Given the description of an element on the screen output the (x, y) to click on. 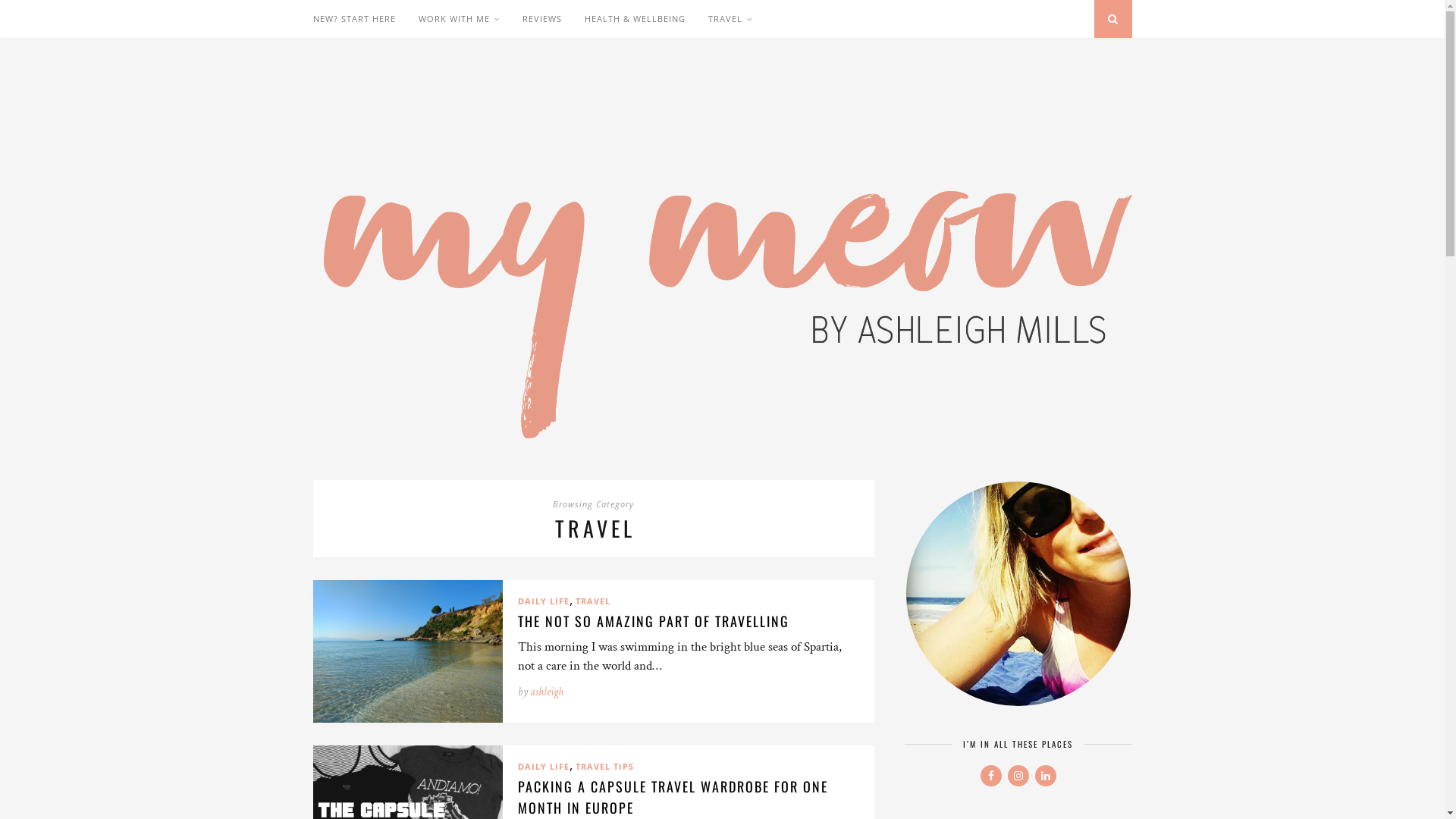
TRAVEL TIPS Element type: text (603, 765)
DAILY LIFE Element type: text (542, 765)
NEW? START HERE Element type: text (353, 18)
REVIEWS Element type: text (541, 18)
TRAVEL Element type: text (730, 18)
THE NOT SO AMAZING PART OF TRAVELLING Element type: text (652, 620)
10400883_10153772043752667_1664969554715729154_n Element type: hover (1017, 593)
WORK WITH ME Element type: text (458, 18)
DAILY LIFE Element type: text (542, 600)
TRAVEL Element type: text (591, 600)
HEALTH & WELLBEING Element type: text (633, 18)
ashleigh Element type: text (545, 691)
PACKING A CAPSULE TRAVEL WARDROBE FOR ONE MONTH IN EUROPE Element type: text (672, 796)
